Given the description of an element on the screen output the (x, y) to click on. 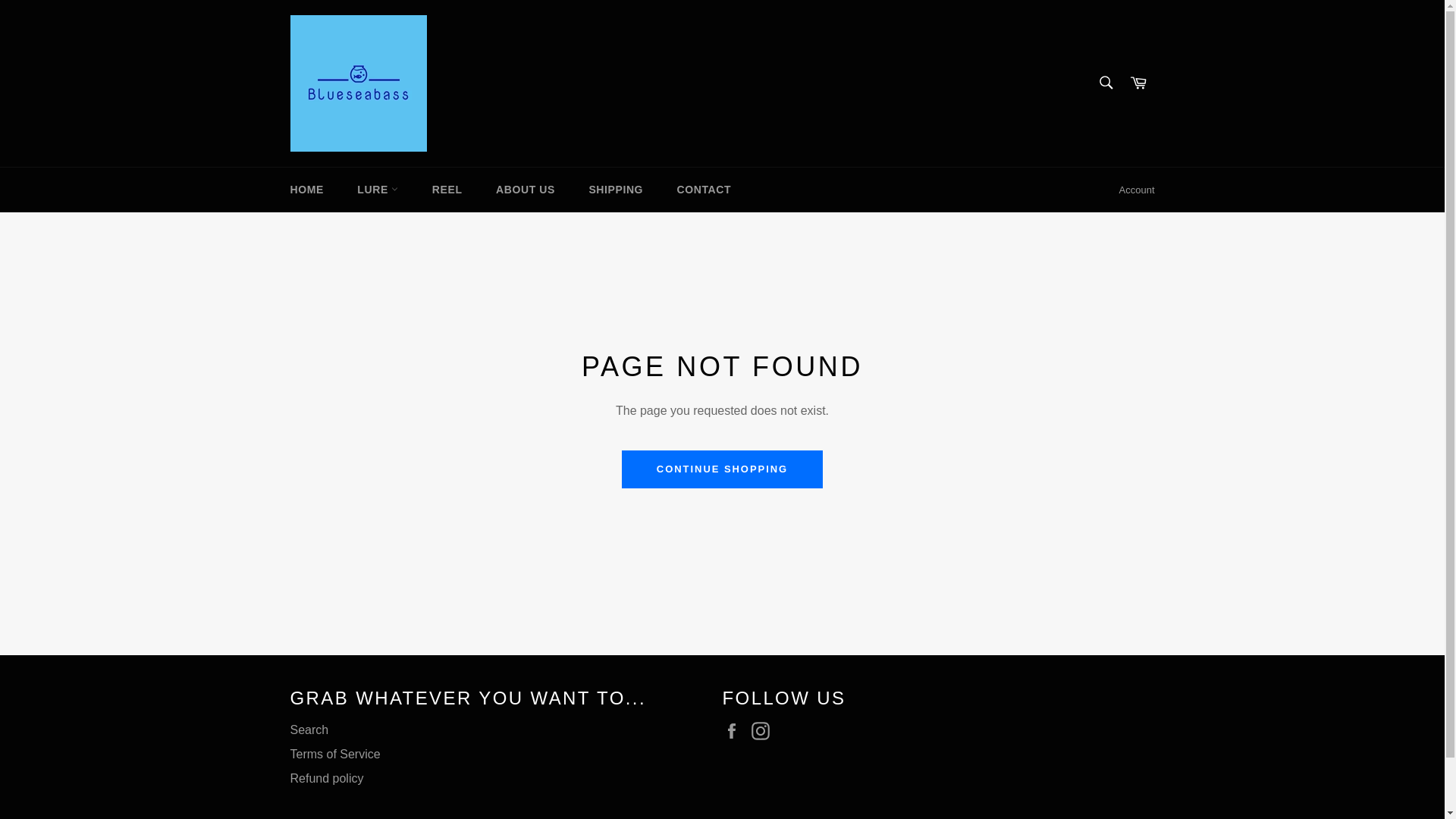
blueseabass on Facebook (735, 730)
CONTACT (704, 189)
LURE (377, 189)
Search (1104, 82)
Facebook (735, 730)
REEL (446, 189)
Instagram (764, 730)
CONTINUE SHOPPING (721, 469)
SHIPPING (615, 189)
blueseabass on Instagram (764, 730)
